Given the description of an element on the screen output the (x, y) to click on. 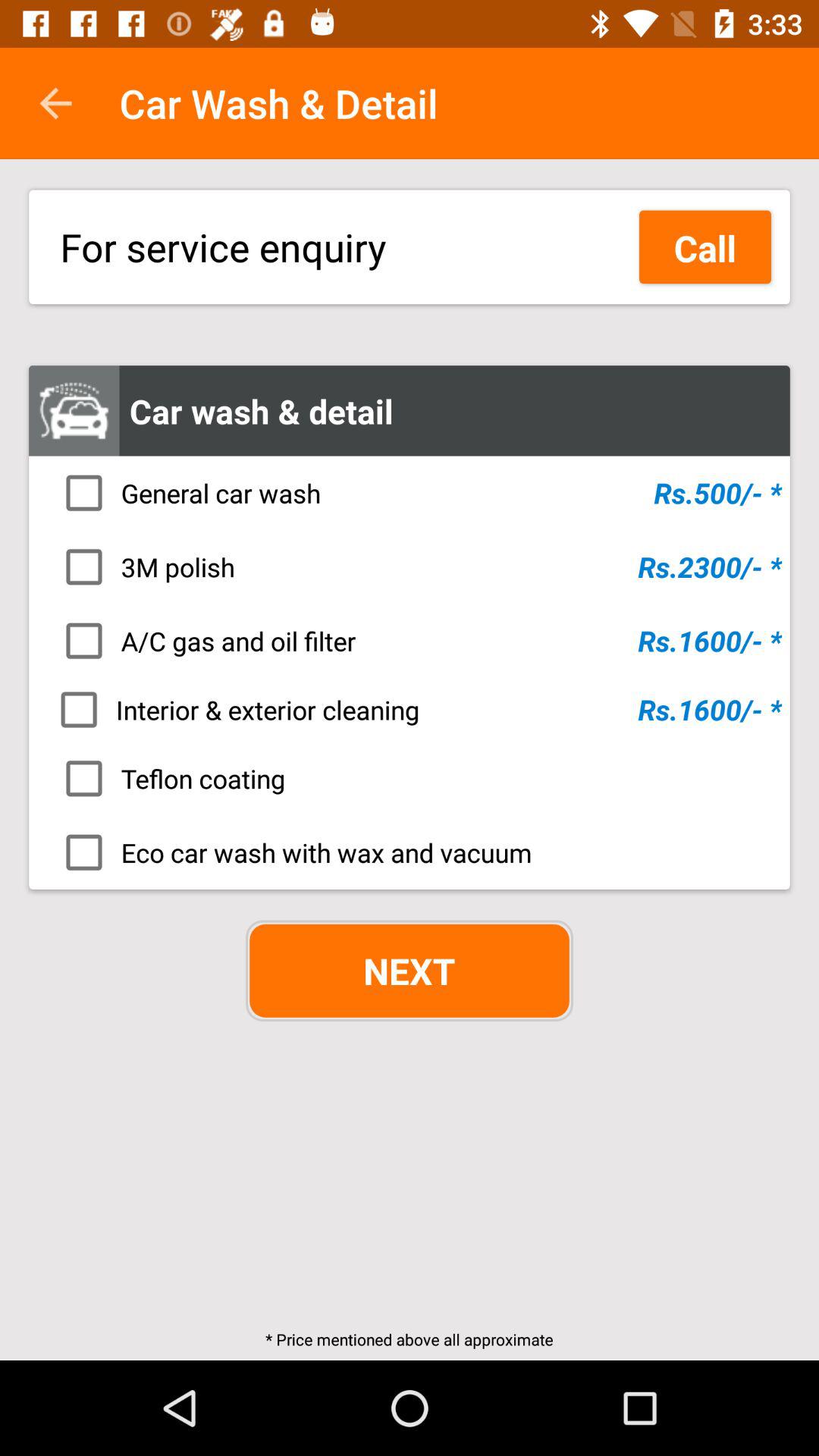
open the item below eco car wash (409, 970)
